Given the description of an element on the screen output the (x, y) to click on. 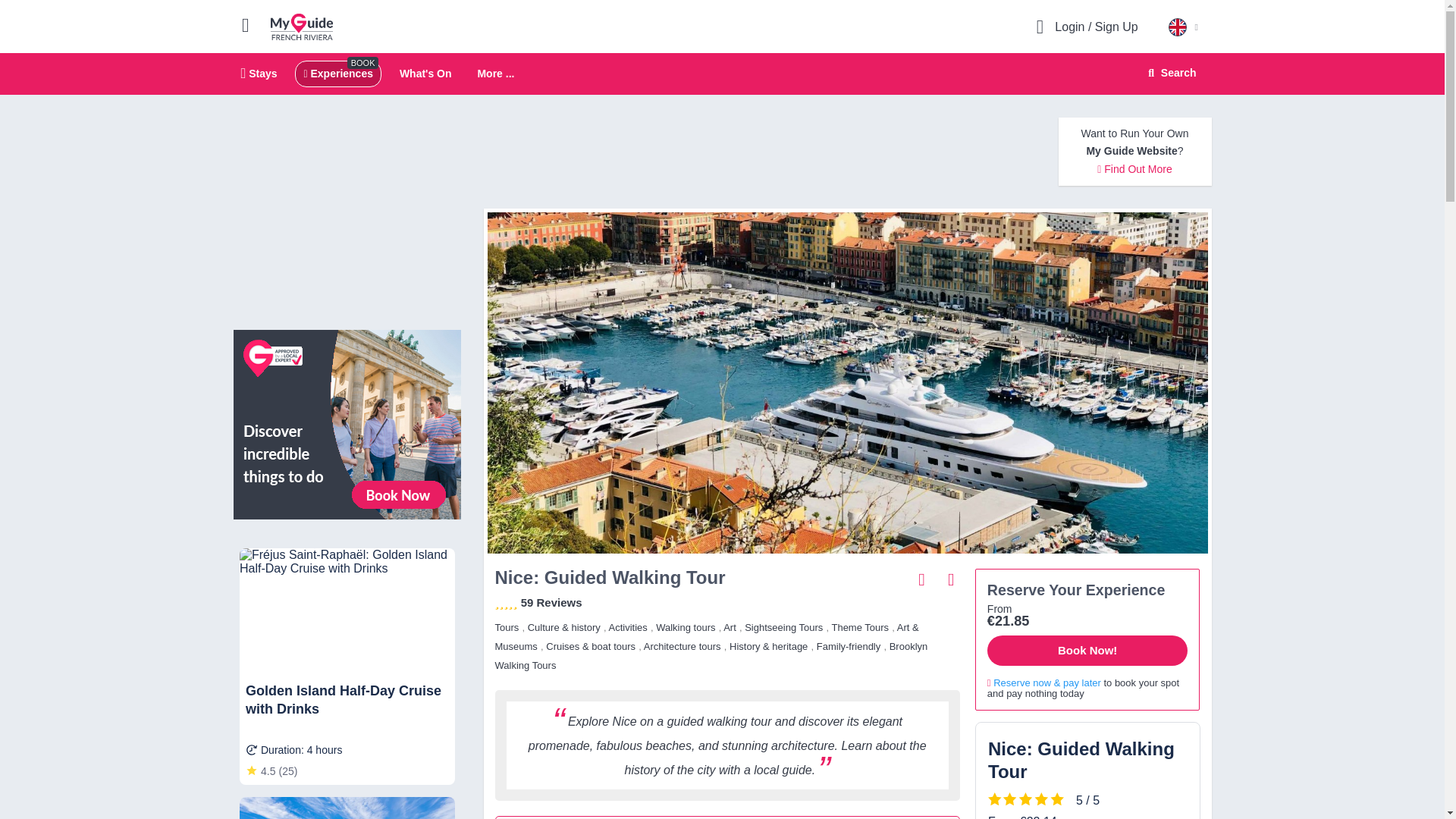
Toggle Menu (251, 24)
Search (1169, 72)
Experiences (337, 73)
Stays (721, 74)
My Guide French Riviera (259, 73)
Nice: Guided Walking Tour (301, 25)
What's On (950, 579)
More ... (424, 73)
GetYourGuide Widget (495, 73)
GetYourGuide Widget (1087, 770)
